Given the description of an element on the screen output the (x, y) to click on. 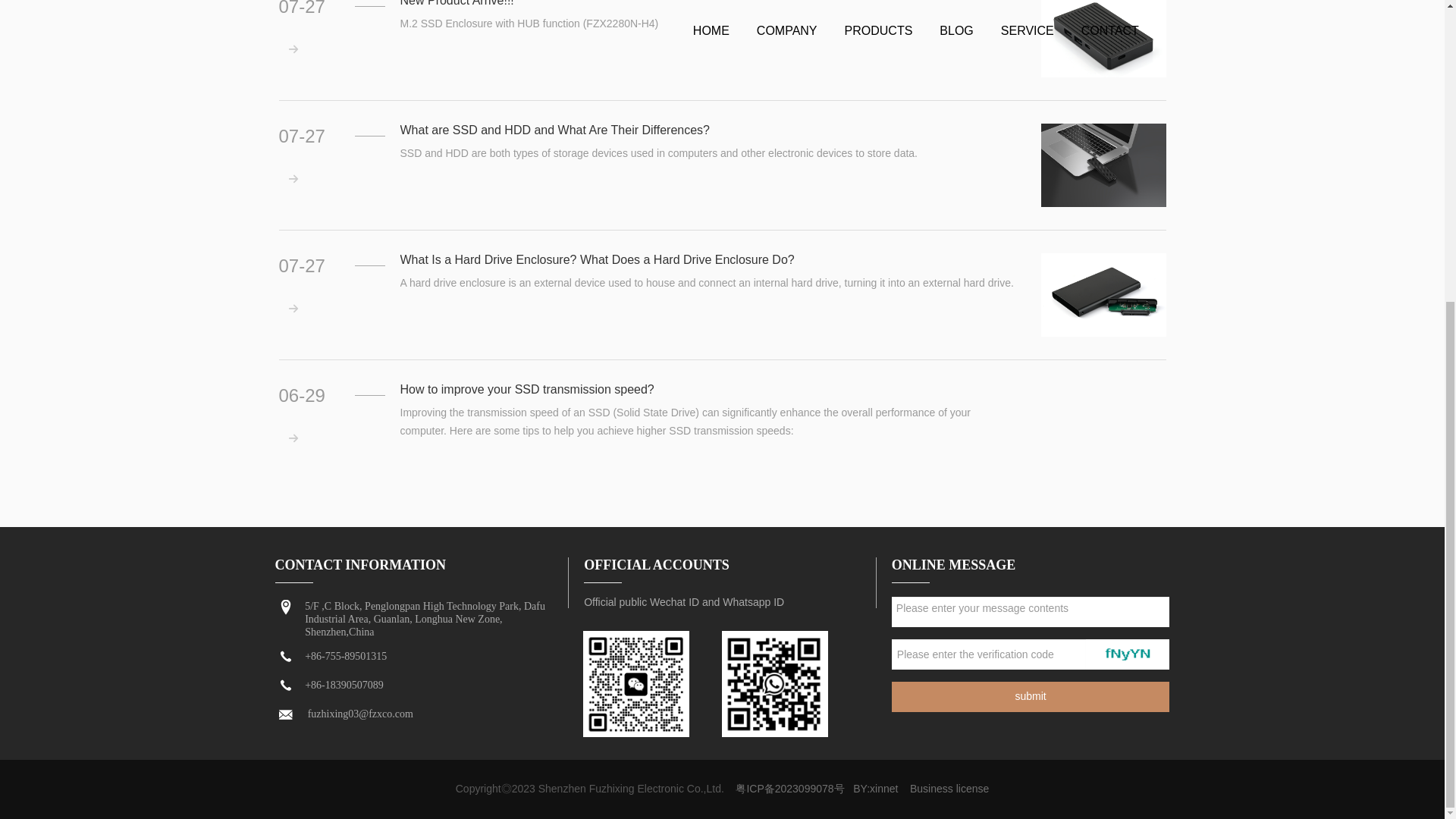
How to improve your SSD transmission speed? (1103, 424)
New Product Arrive!!! (1103, 38)
What are SSD and HDD and What Are Their Differences? (1103, 165)
